Given the description of an element on the screen output the (x, y) to click on. 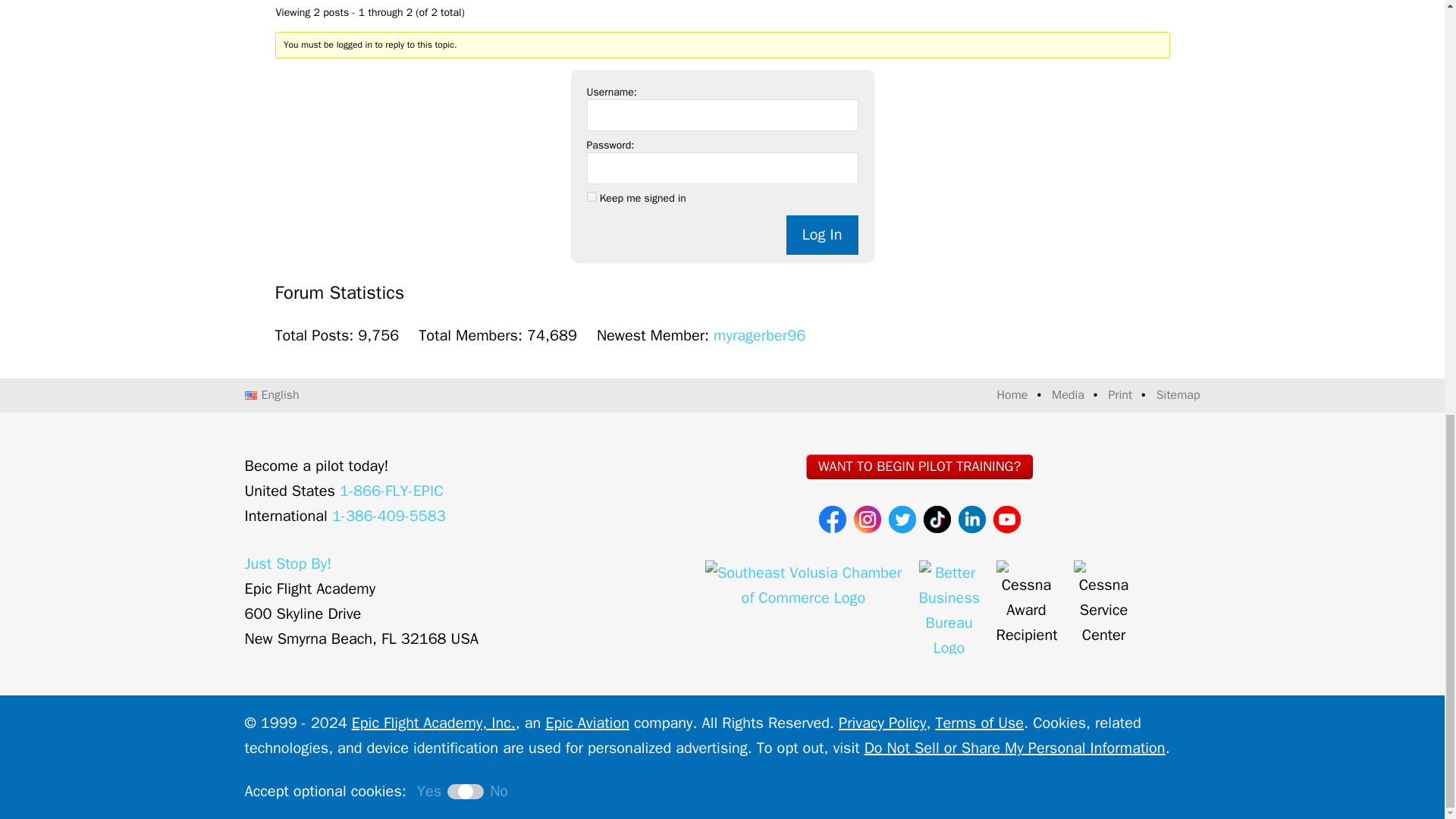
forever (591, 196)
